Given the description of an element on the screen output the (x, y) to click on. 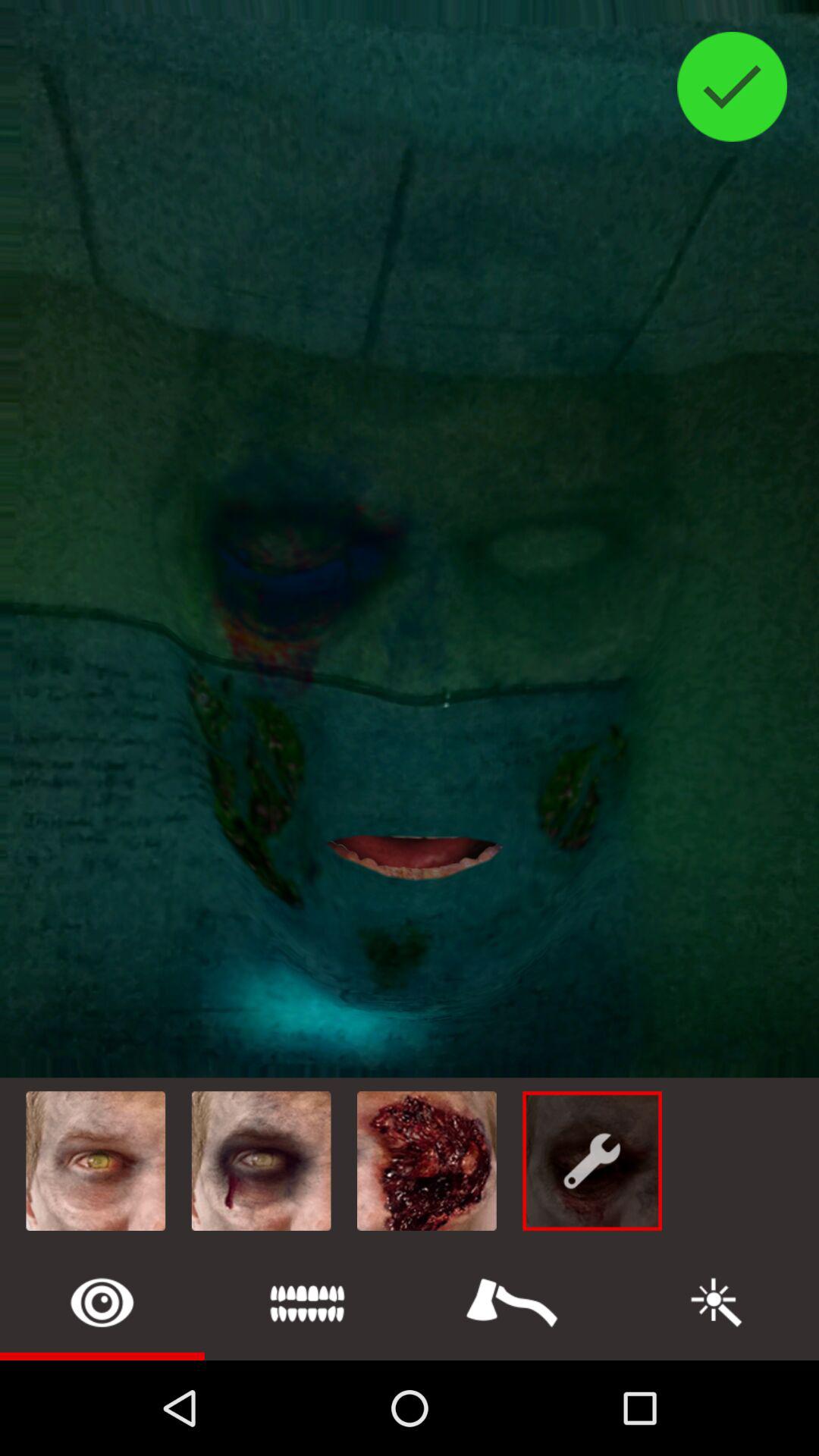
approve image (732, 86)
